Given the description of an element on the screen output the (x, y) to click on. 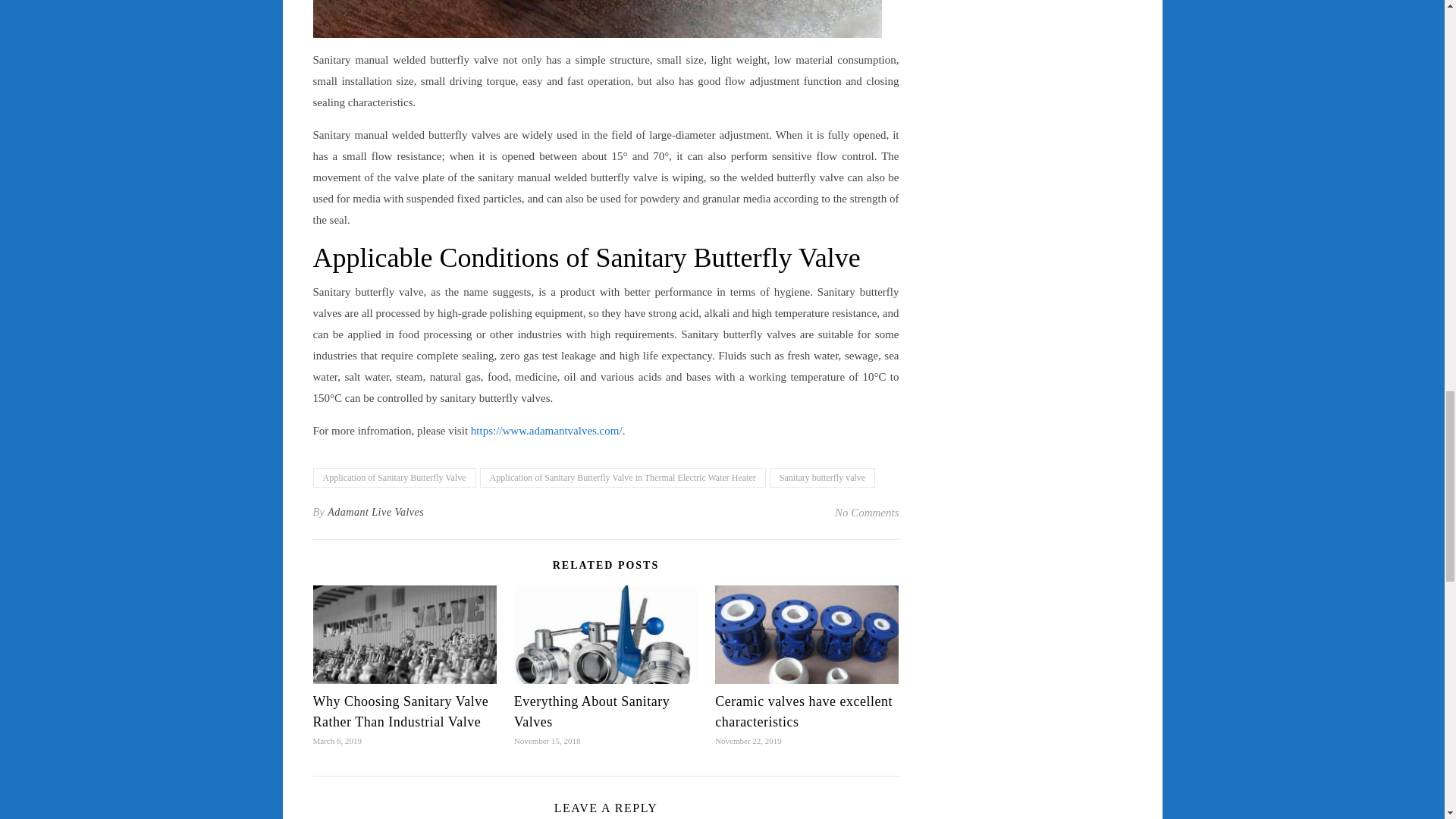
Posts by Adamant Live Valves (375, 512)
